Given the description of an element on the screen output the (x, y) to click on. 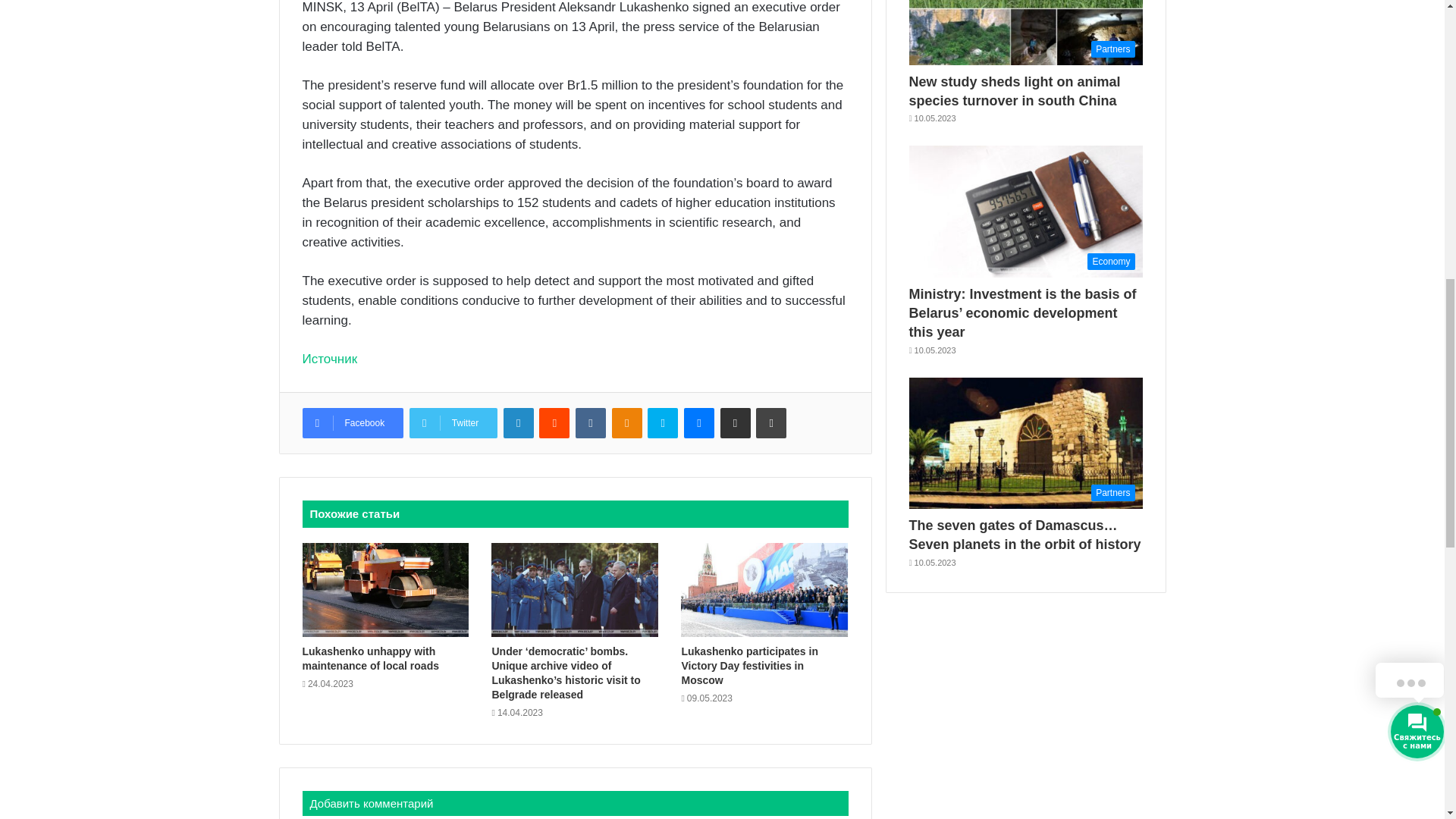
Messenger (699, 422)
Reddit (553, 422)
LinkedIn (518, 422)
Twitter (453, 422)
Facebook (352, 422)
Skype (662, 422)
Twitter (453, 422)
Facebook (352, 422)
LinkedIn (518, 422)
Reddit (553, 422)
